Given the description of an element on the screen output the (x, y) to click on. 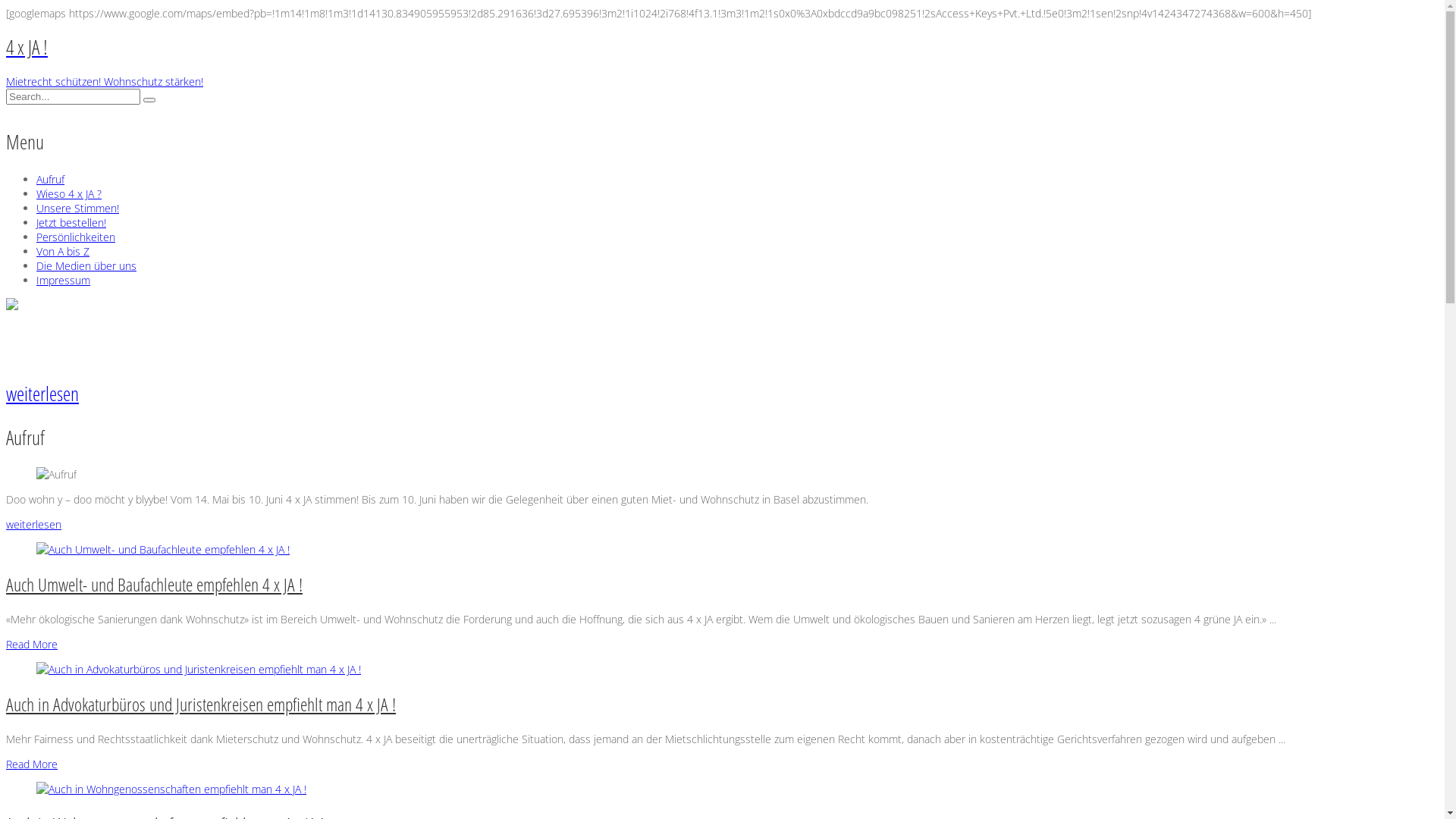
Wieso 4 x JA ? Element type: text (68, 193)
weiterlesen Element type: text (33, 524)
Impressum Element type: text (63, 280)
Aufruf Element type: text (50, 179)
weiterlesen Element type: text (42, 393)
Read More Element type: text (31, 644)
Read More Element type: text (31, 763)
Auch Umwelt- und Baufachleute empfehlen 4 x JA ! Element type: text (154, 583)
Jetzt bestellen! Element type: text (71, 222)
Unsere Stimmen! Element type: text (77, 207)
Von A bis Z Element type: text (62, 251)
